Given the description of an element on the screen output the (x, y) to click on. 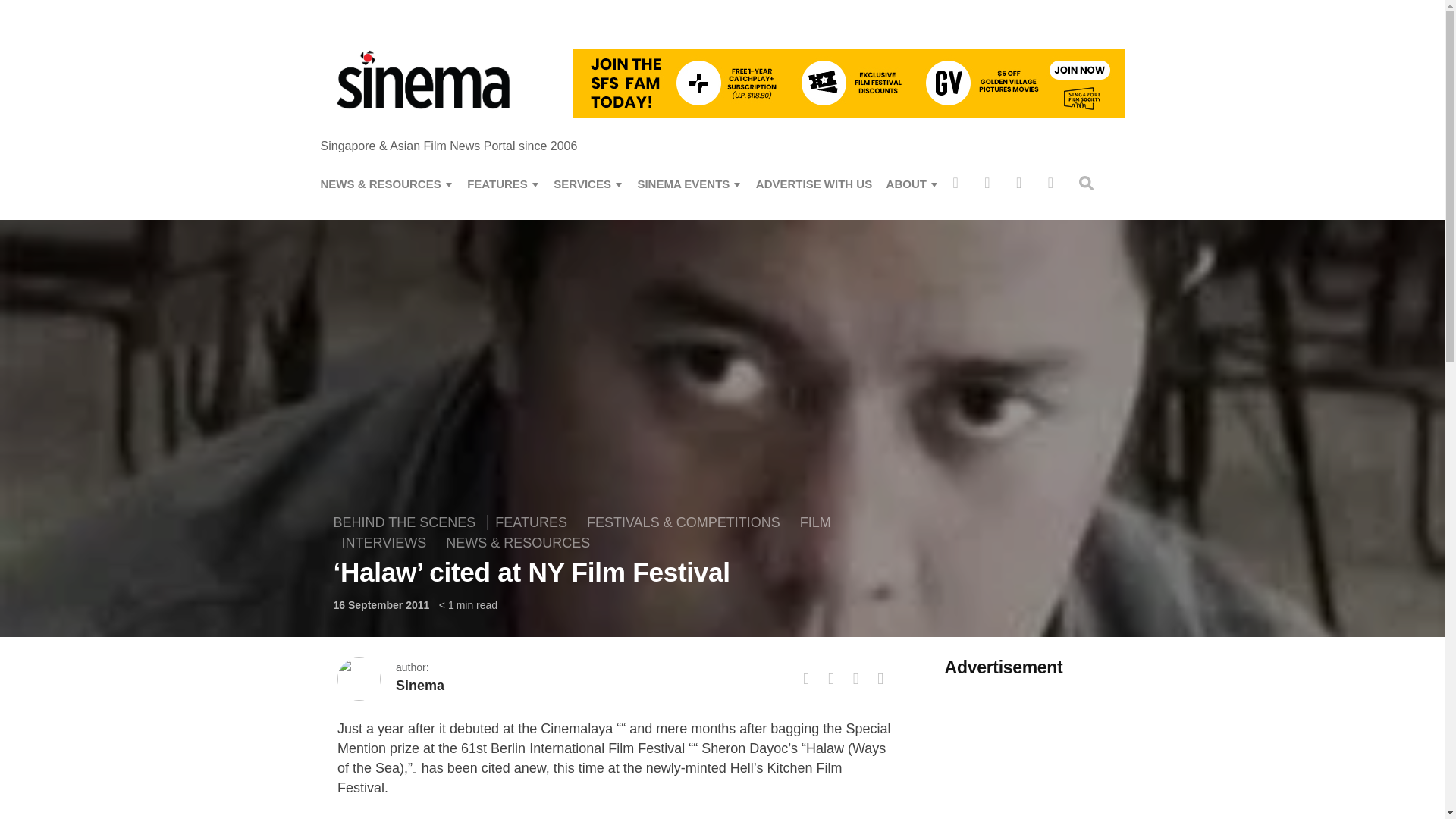
FEATURES (530, 521)
BEHIND THE SCENES (408, 521)
Posts by Sinema (420, 685)
FILM (815, 521)
INTERVIEWS (383, 542)
